Given the description of an element on the screen output the (x, y) to click on. 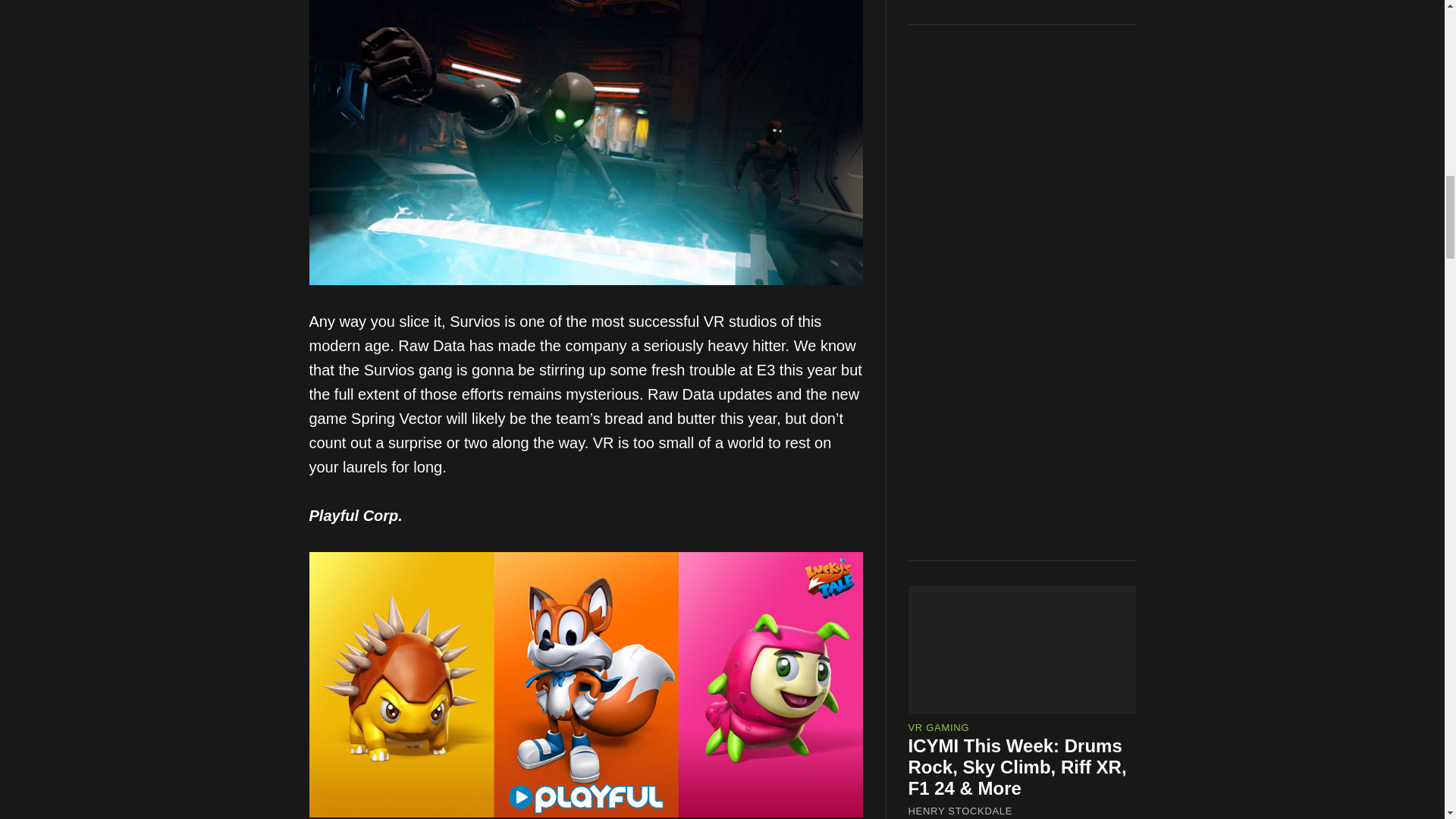
HENRY STOCKDALE (960, 567)
VR GAMING (938, 483)
VR GAMING (938, 780)
